Given the description of an element on the screen output the (x, y) to click on. 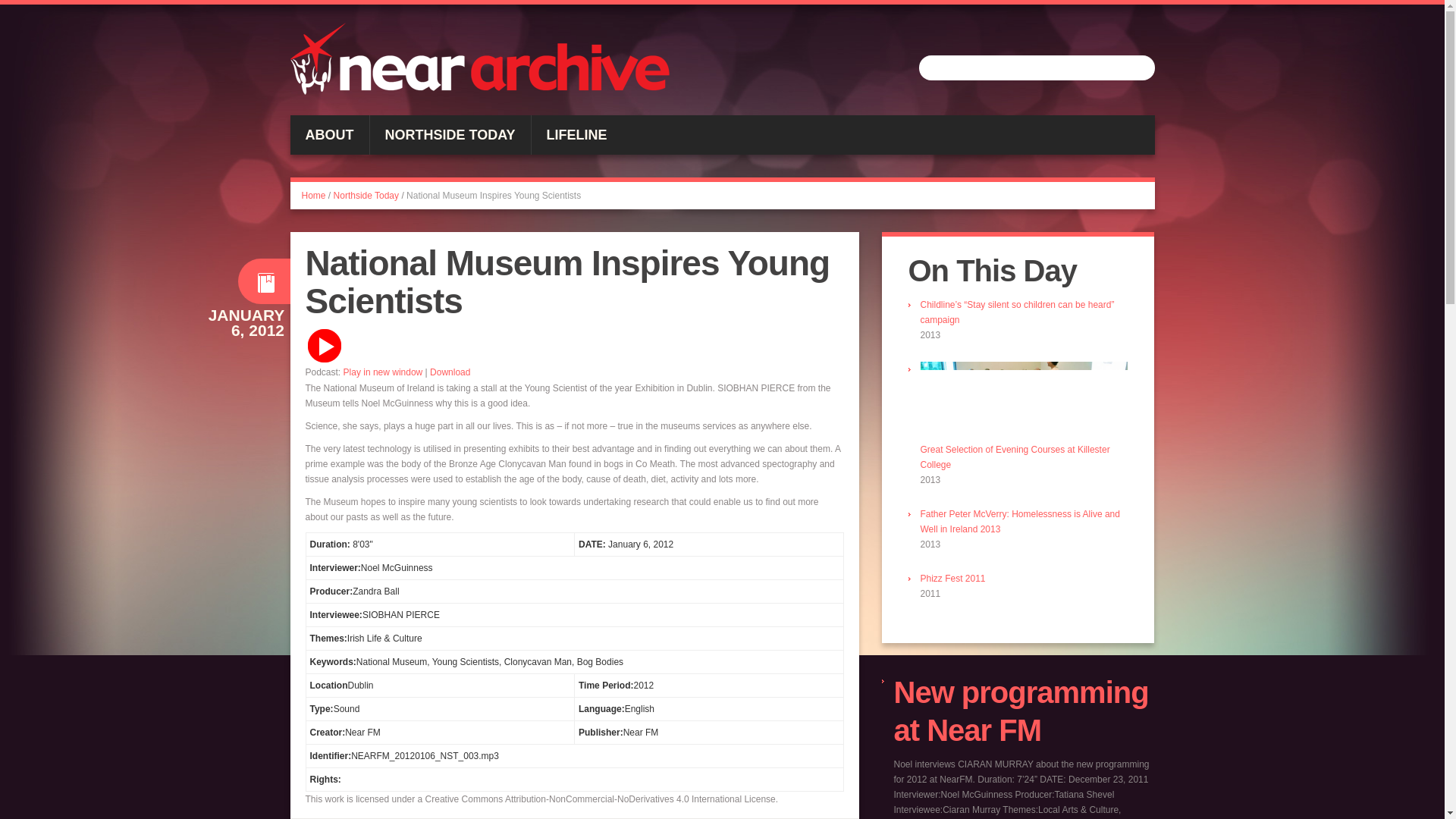
New programming at Near FM (1020, 710)
Play in new window (383, 371)
Near Archive (478, 59)
LIFELINE (577, 134)
Download (449, 371)
Northside Today (365, 195)
Phizz Fest 2011 (952, 578)
Play (323, 345)
Home (313, 195)
